Given the description of an element on the screen output the (x, y) to click on. 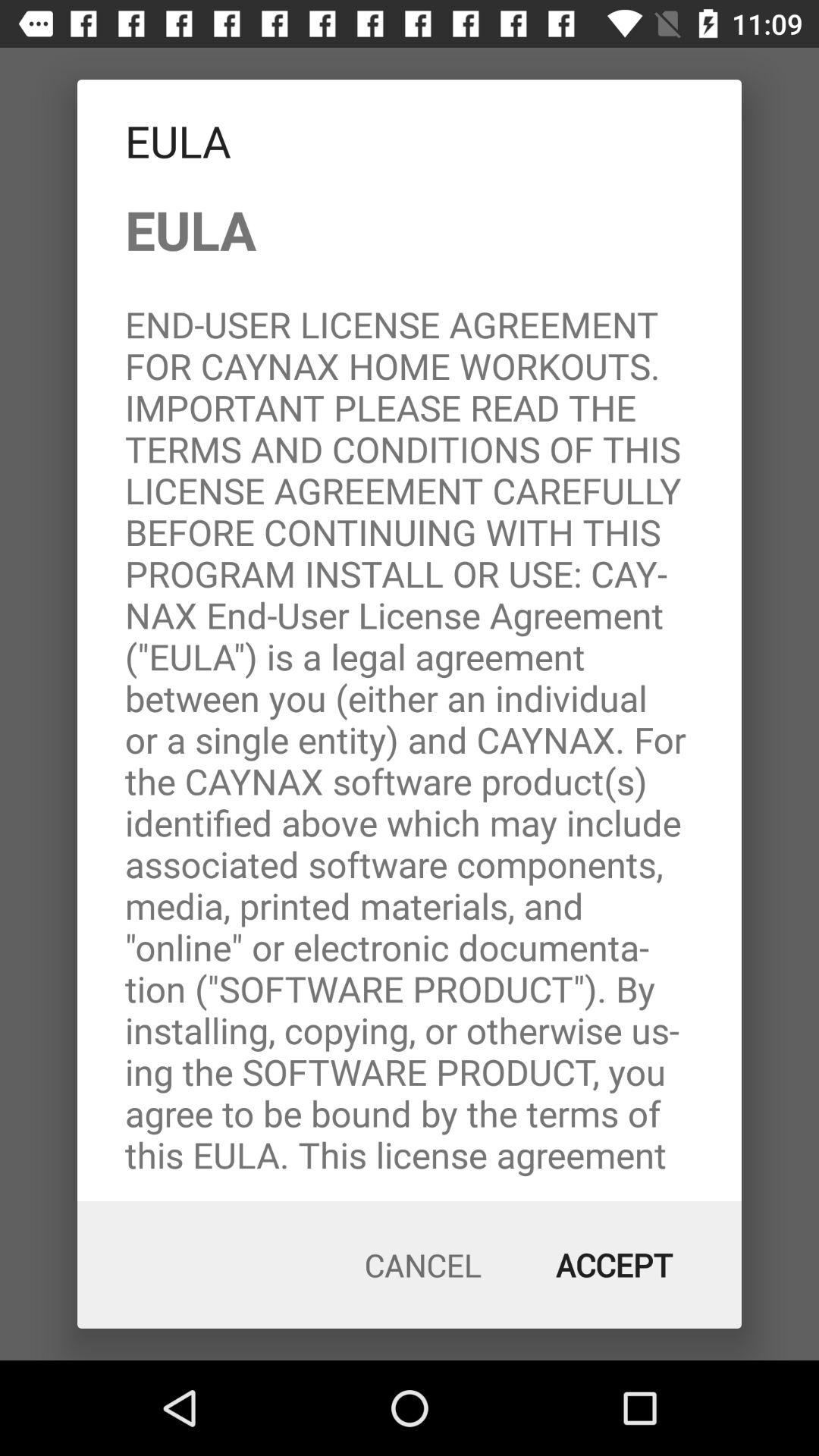
select the button next to the accept button (422, 1264)
